Given the description of an element on the screen output the (x, y) to click on. 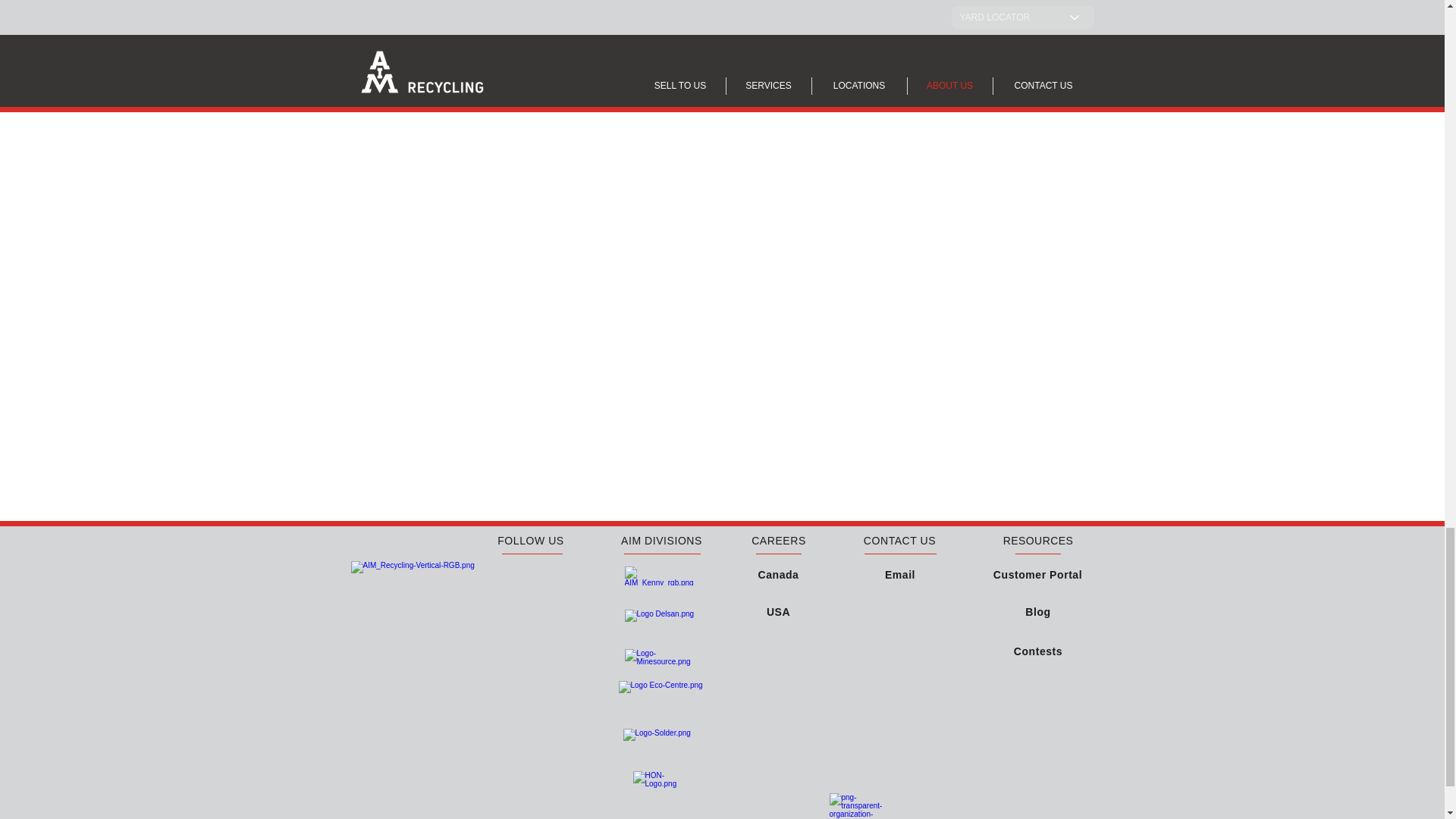
Canada (778, 573)
Blog (1037, 611)
Customer Portal (1036, 573)
Contests (1037, 650)
Email (900, 574)
USA (778, 611)
